Given the description of an element on the screen output the (x, y) to click on. 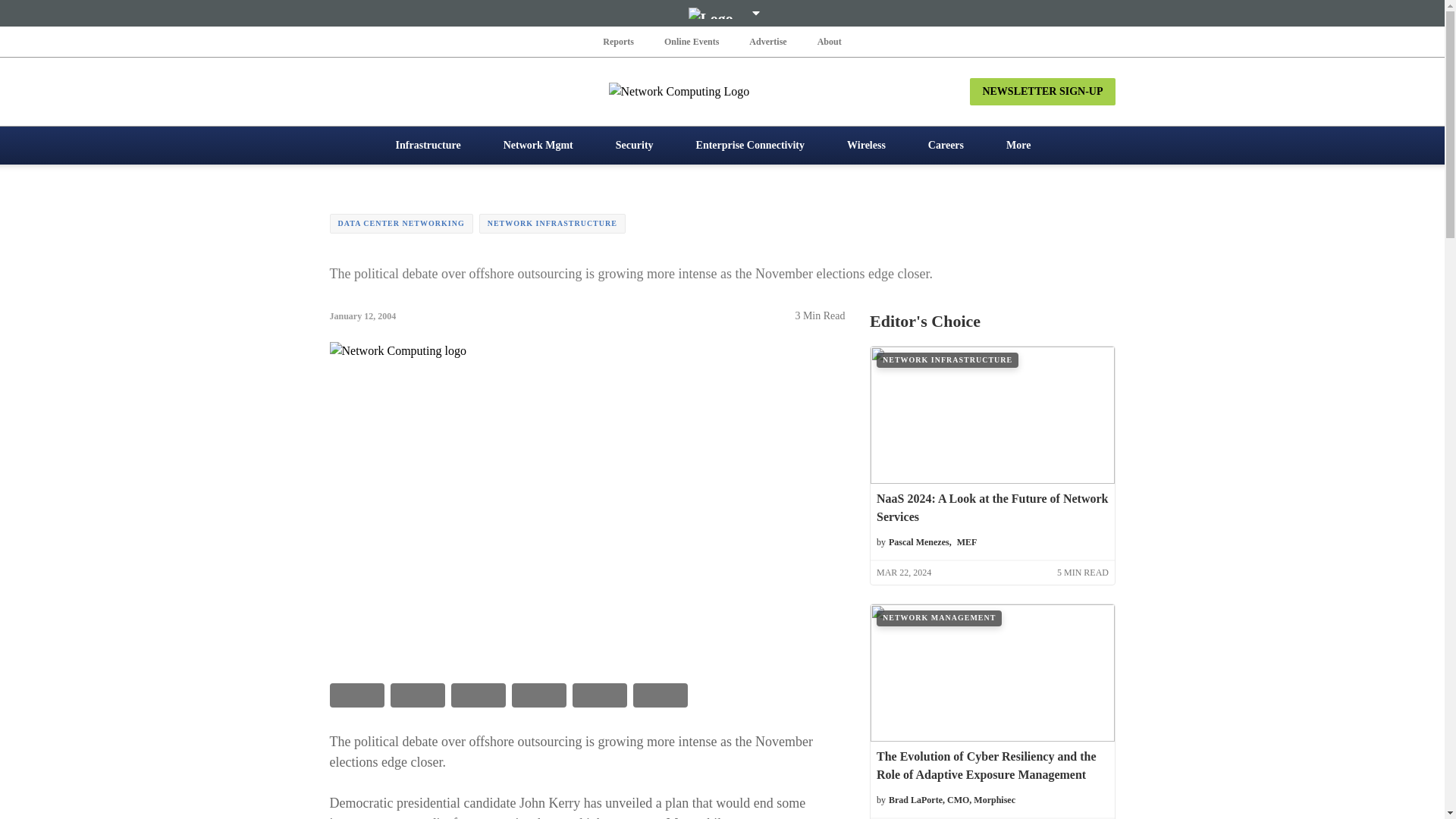
NEWSLETTER SIGN-UP (1042, 90)
Reports (618, 41)
Online Events (691, 41)
About (828, 41)
Advertise (767, 41)
Network Computing Logo (721, 91)
